Given the description of an element on the screen output the (x, y) to click on. 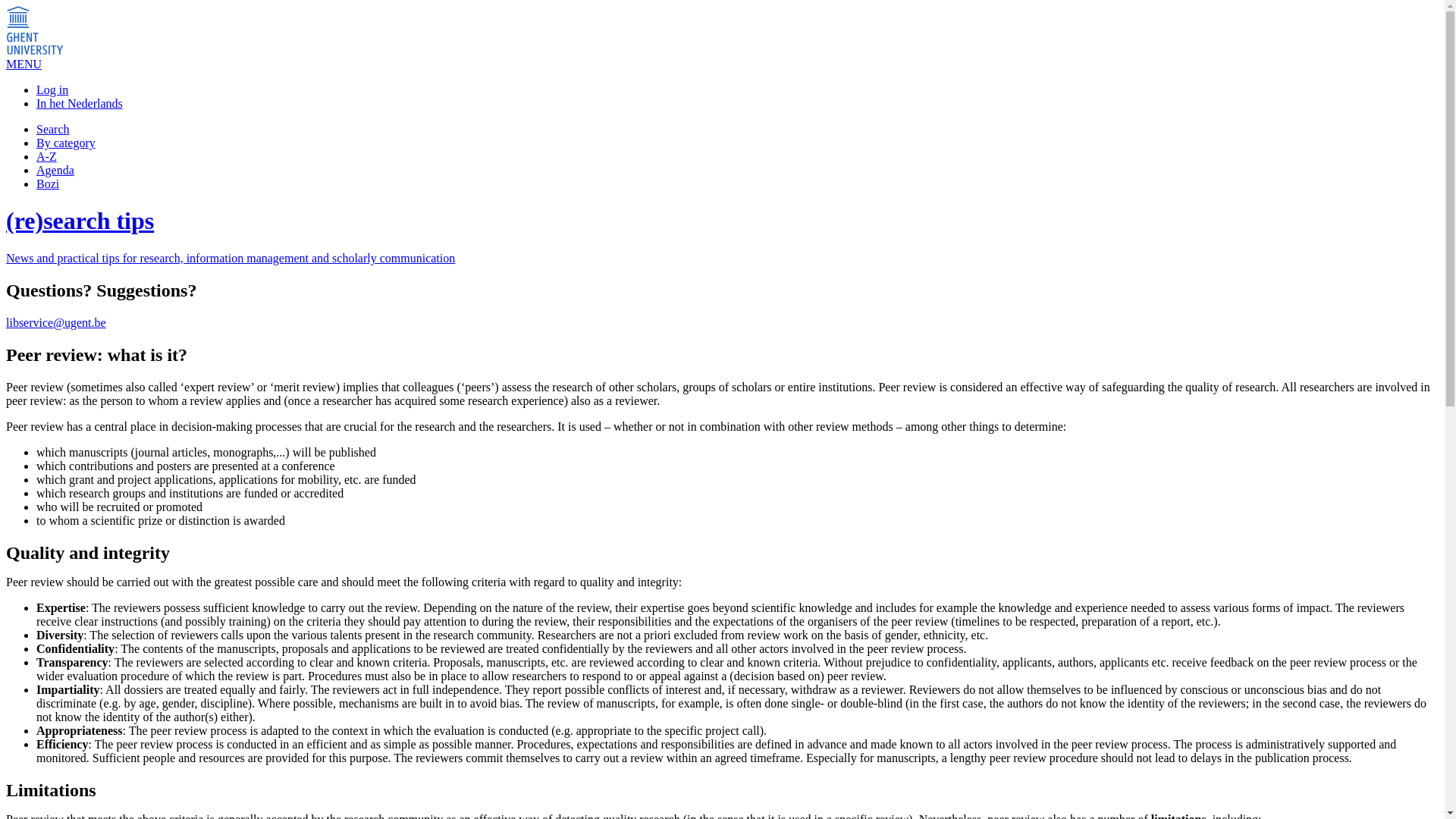
Bozi (47, 183)
By category (66, 142)
In het Nederlands (79, 103)
Agenda (55, 169)
Search (52, 128)
A-Z (46, 155)
Log in (52, 89)
